Given the description of an element on the screen output the (x, y) to click on. 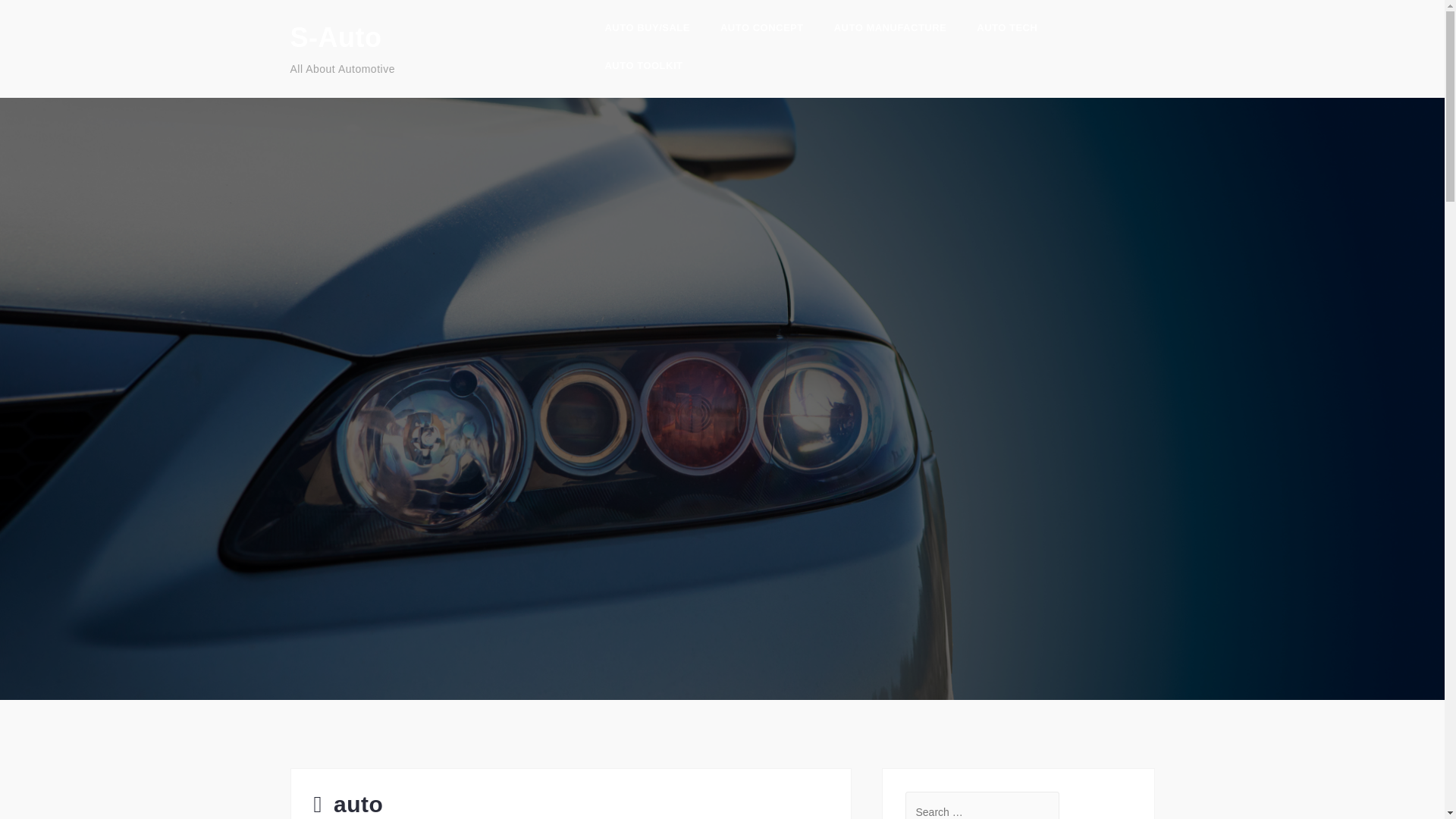
AUTO CONCEPT (761, 29)
AUTO MANUFACTURE (890, 29)
AUTO TECH (1006, 29)
AUTO TOOLKIT (643, 67)
S-Auto (335, 37)
